Given the description of an element on the screen output the (x, y) to click on. 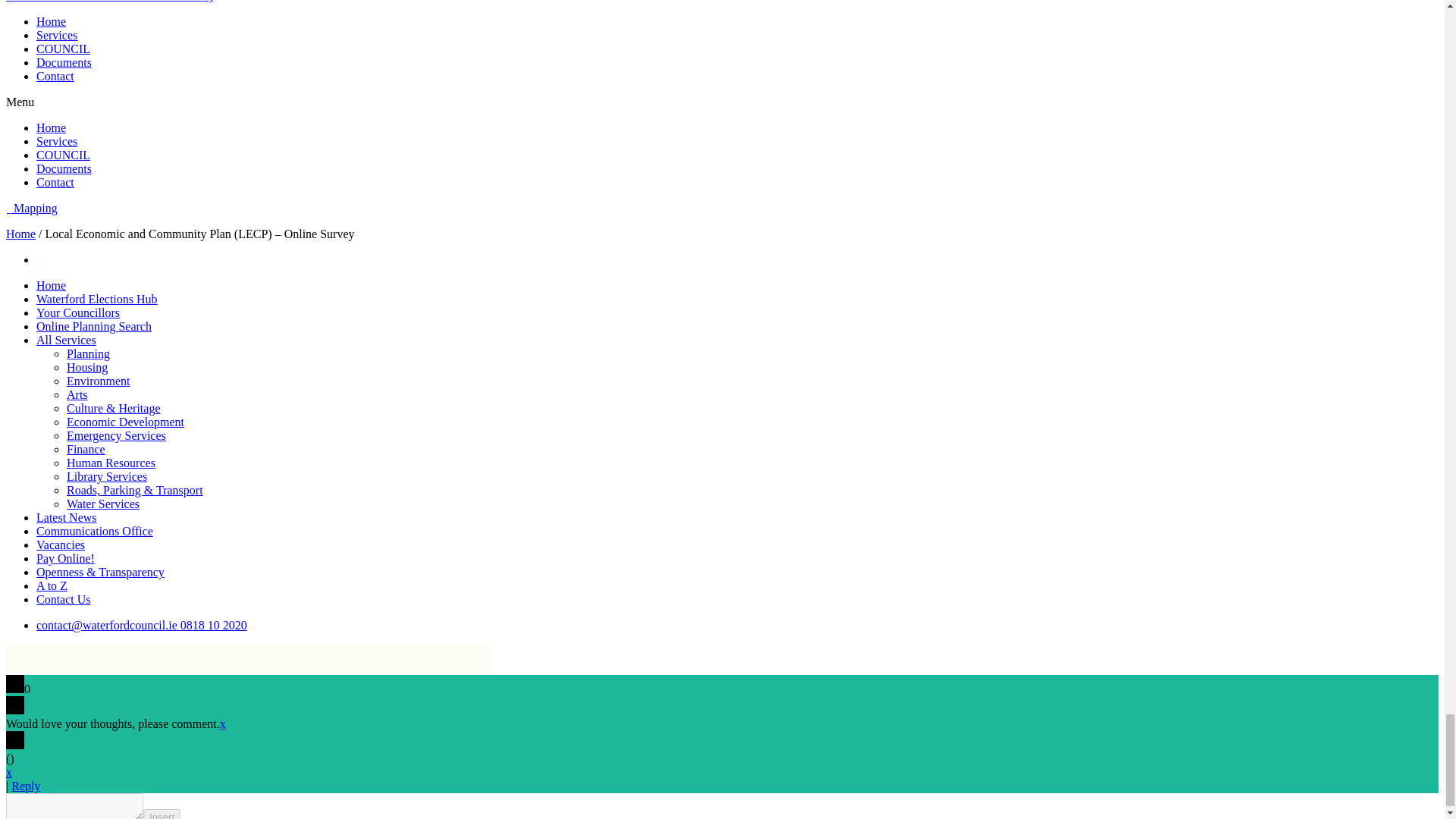
Home (50, 21)
Services (56, 34)
COUNCIL (63, 48)
